Given the description of an element on the screen output the (x, y) to click on. 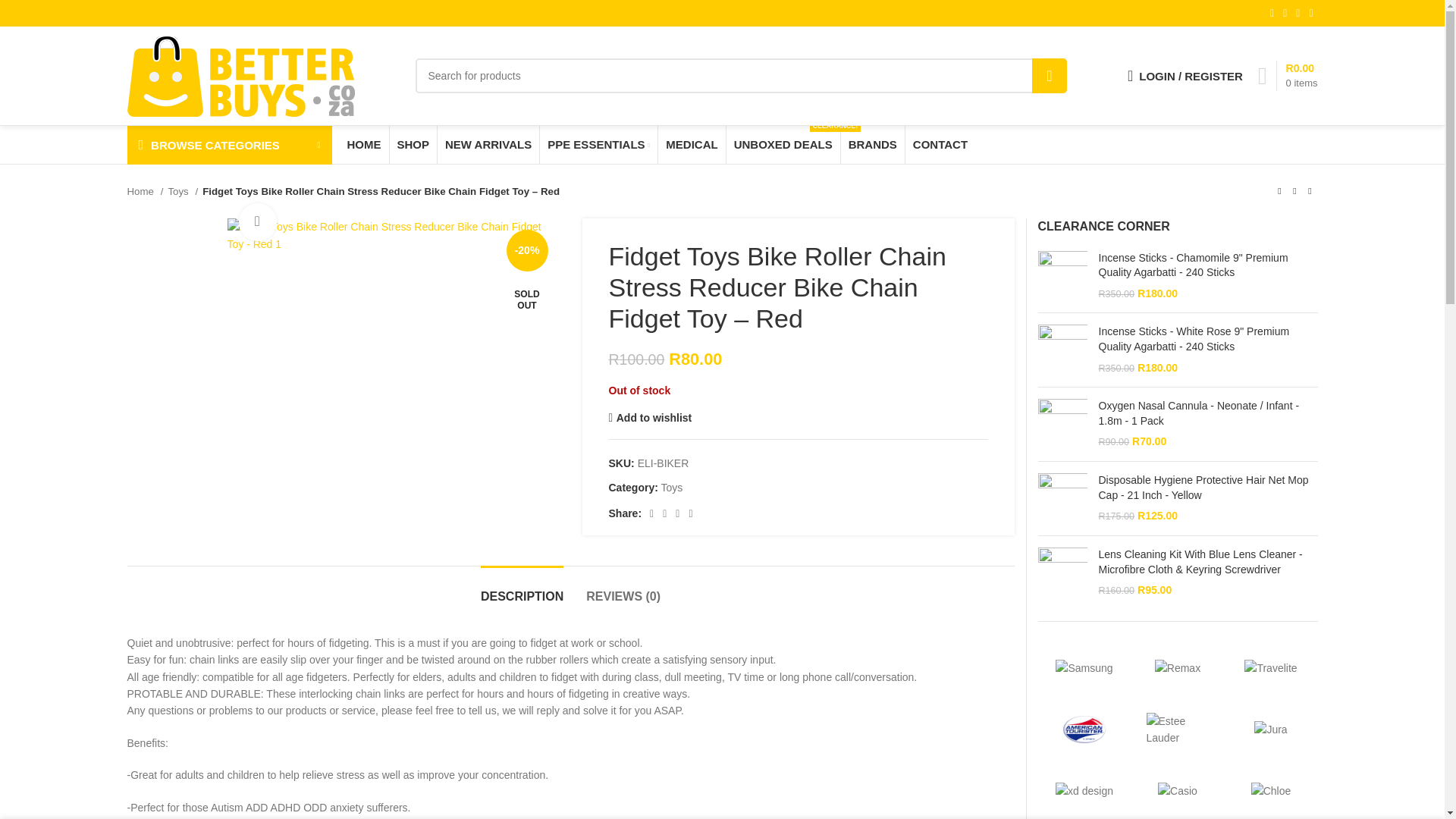
SEARCH (1287, 75)
Search for products (1049, 75)
Fidget-BikeChain-Red-1Pack (740, 75)
Log in (393, 235)
